Given the description of an element on the screen output the (x, y) to click on. 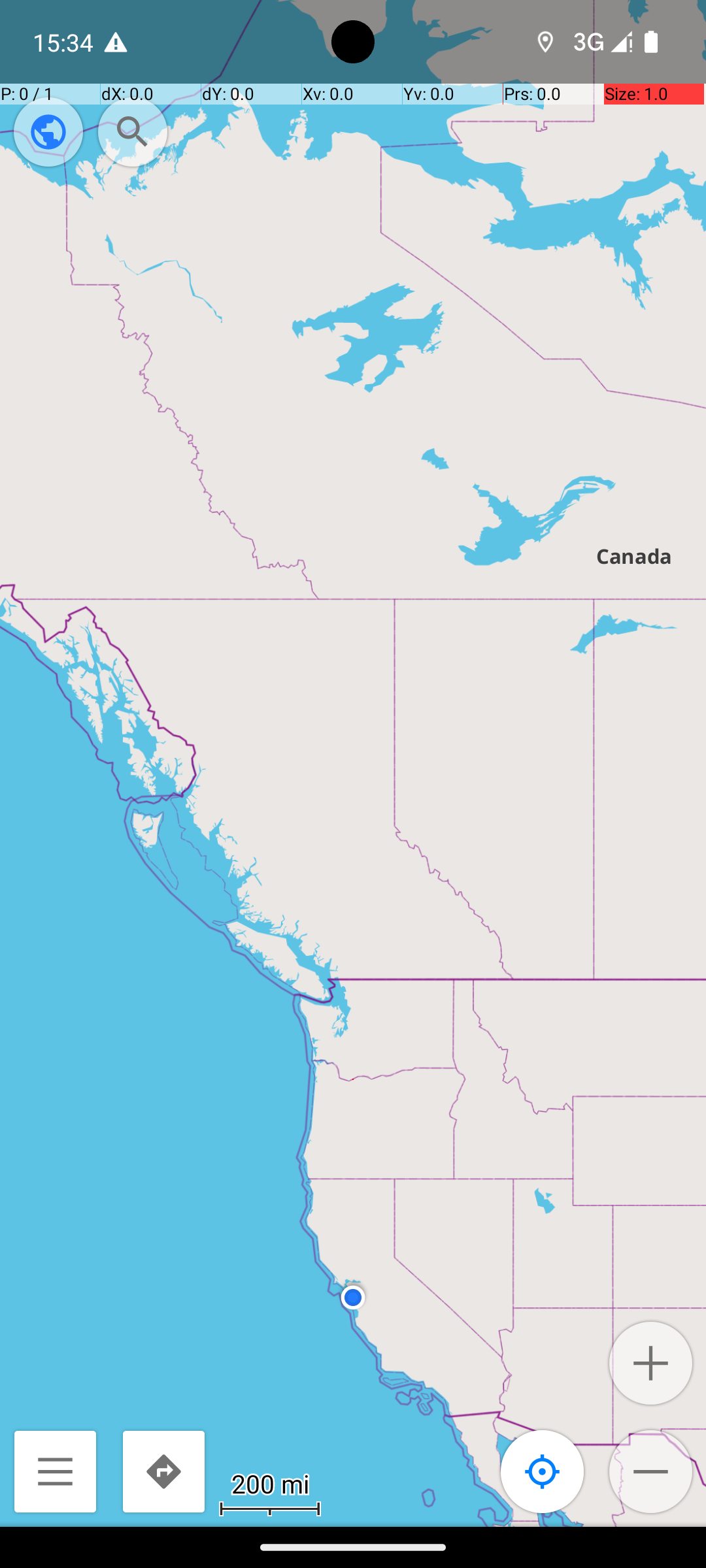
Map linked to location Element type: android.widget.ImageButton (542, 1471)
